Given the description of an element on the screen output the (x, y) to click on. 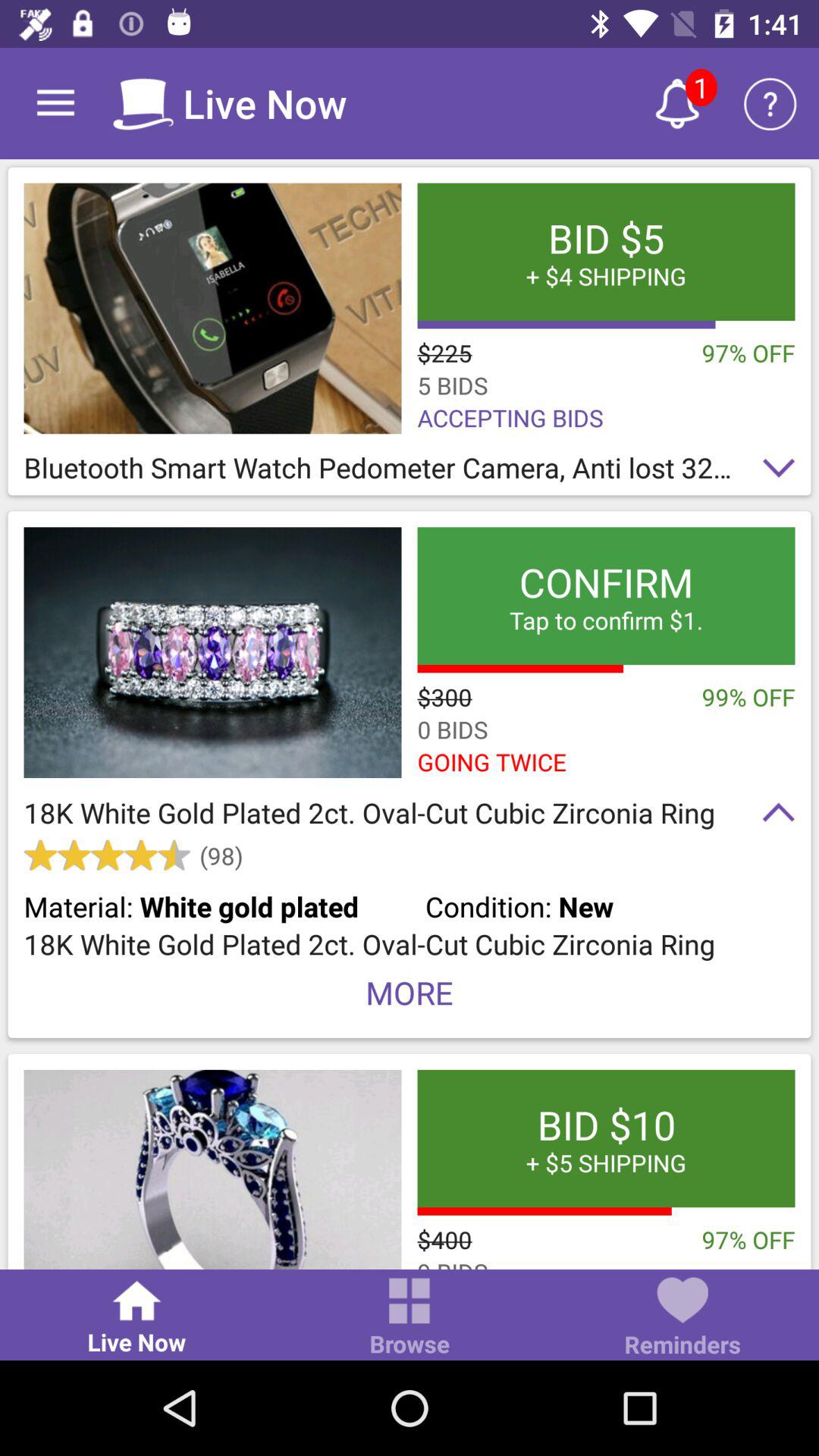
turn on bluetooth smart watch icon (409, 472)
